Given the description of an element on the screen output the (x, y) to click on. 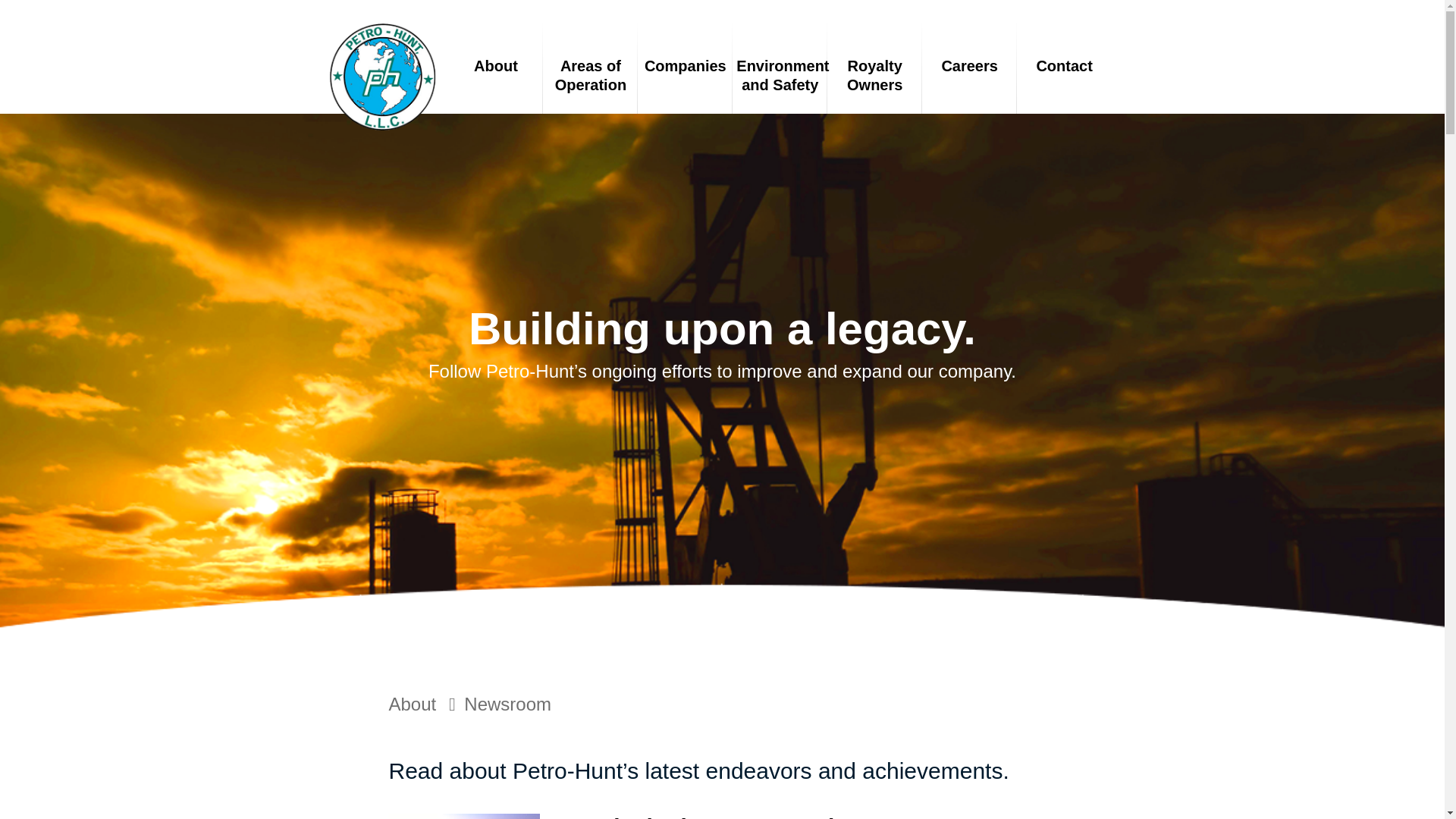
Environment and Safety (780, 75)
Areas of Operation (590, 75)
Environment and Safety (779, 67)
Careers (969, 66)
Contact (1064, 66)
About (411, 703)
Royalty Owners (874, 75)
Contact (1064, 67)
Companies (684, 67)
Areas of Operation (590, 67)
